Given the description of an element on the screen output the (x, y) to click on. 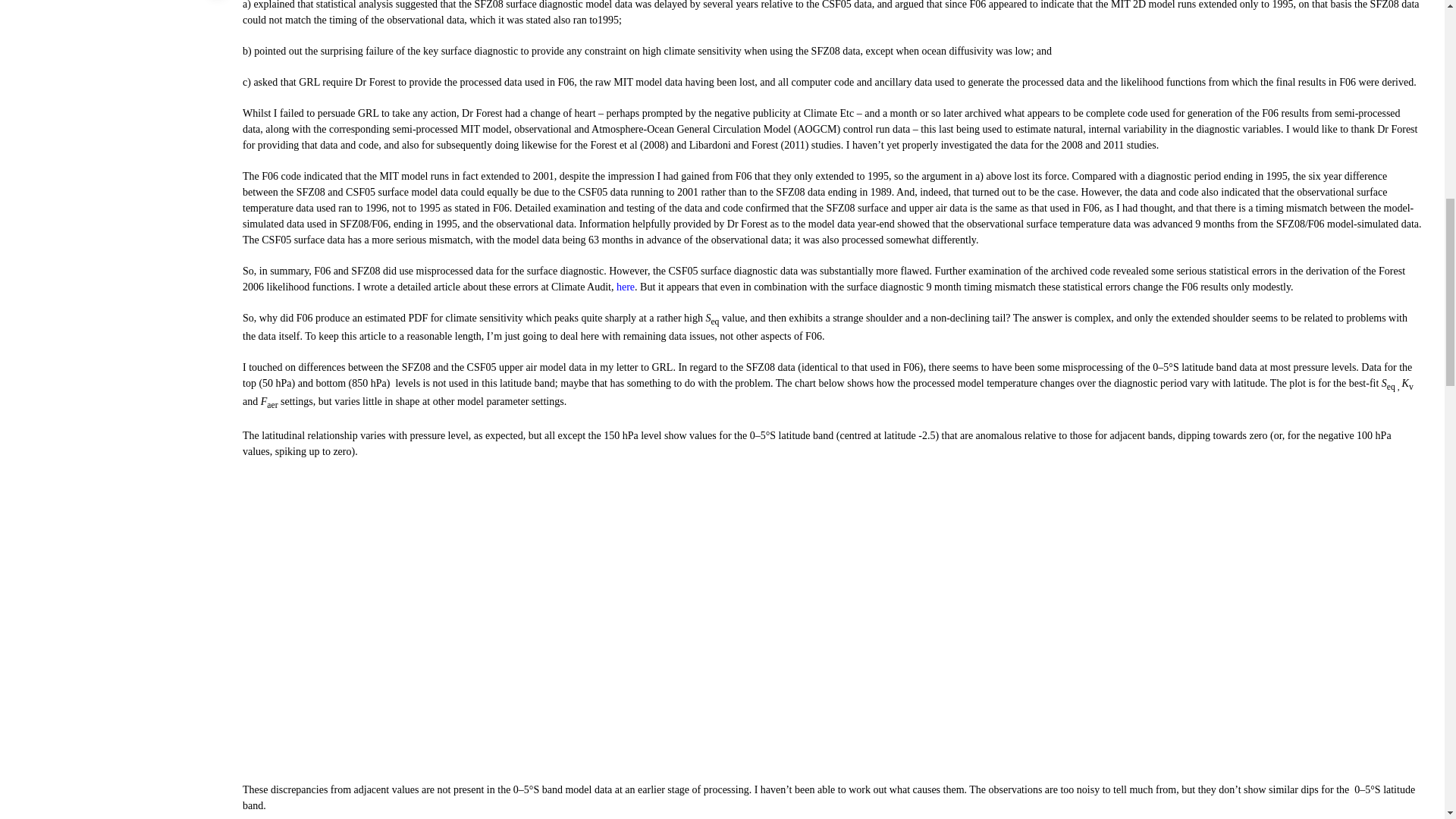
here (624, 286)
